Given the description of an element on the screen output the (x, y) to click on. 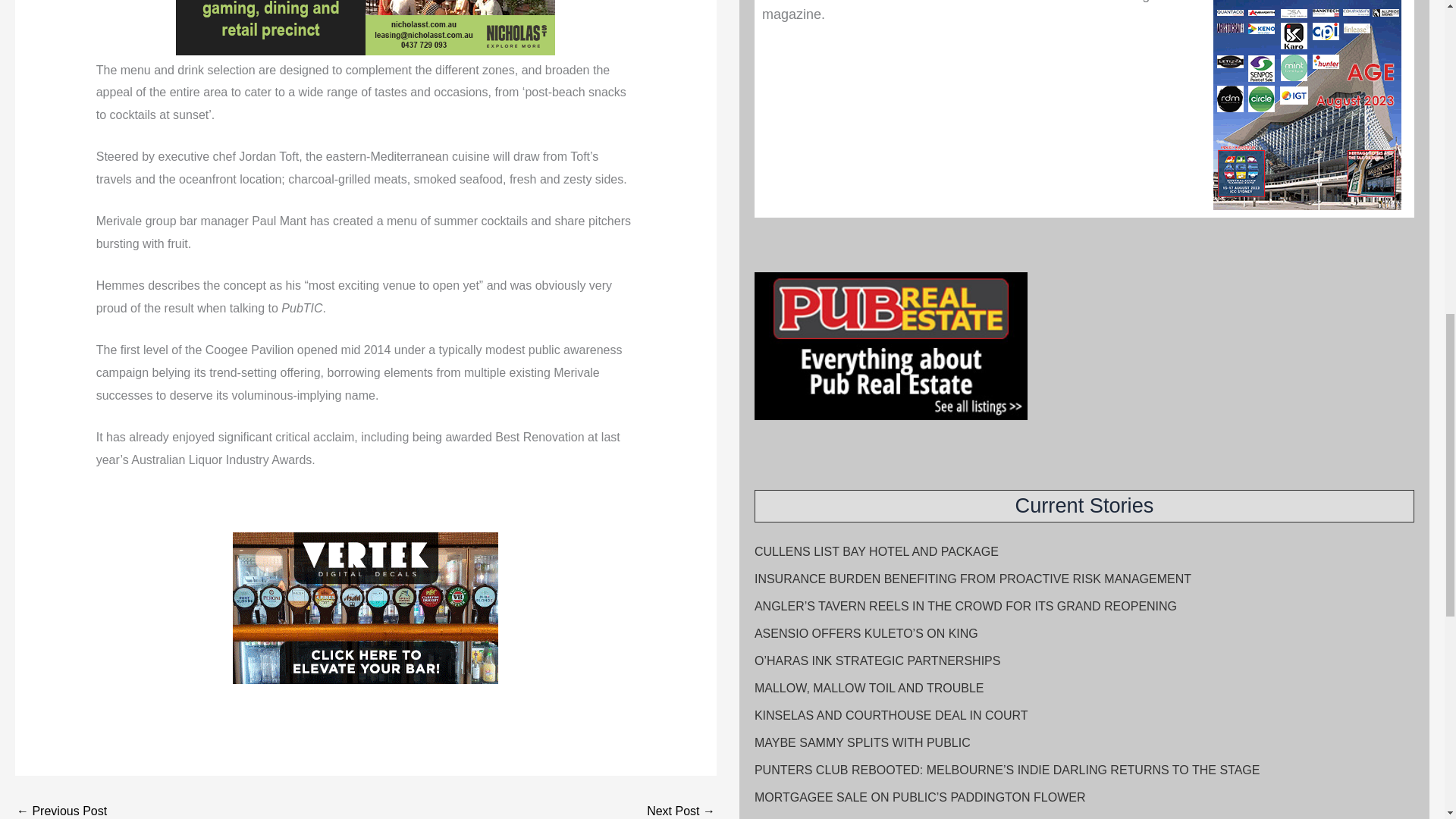
WHO data reveals true global guzzlers (61, 811)
Country pubs need good food too (680, 811)
